Given the description of an element on the screen output the (x, y) to click on. 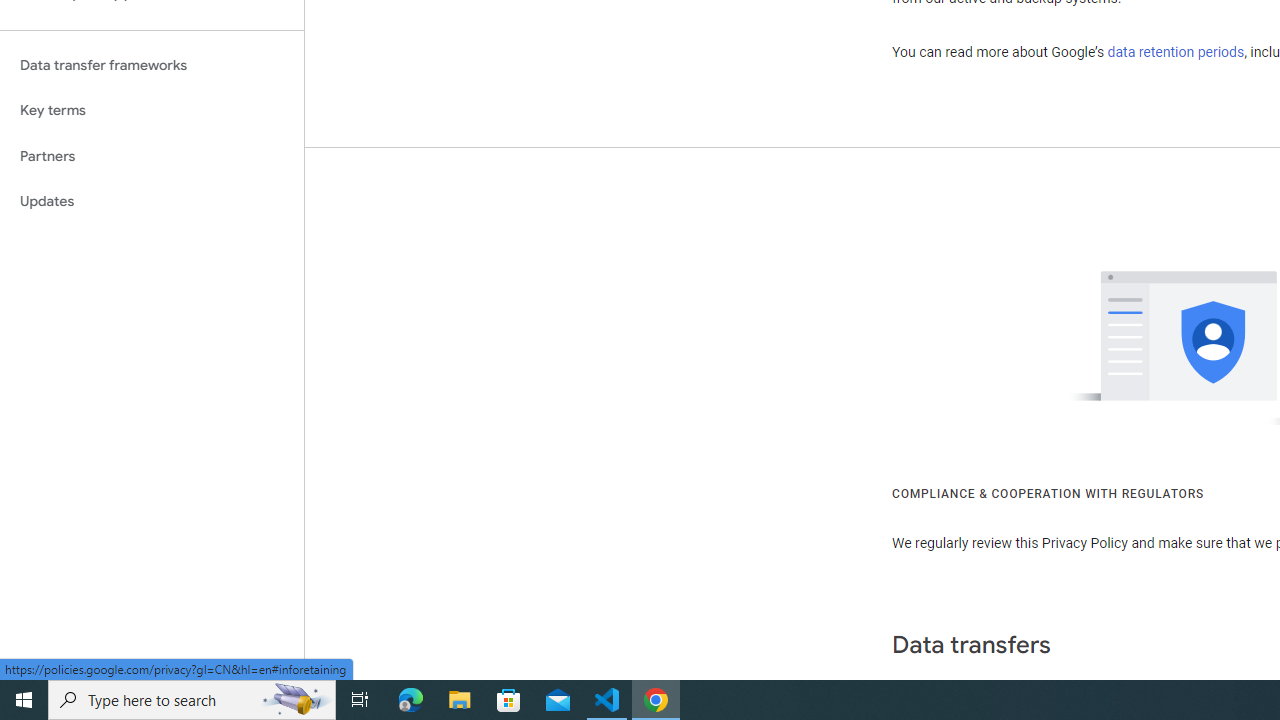
data retention periods (1176, 52)
Data transfer frameworks (152, 65)
Partners (152, 156)
Key terms (152, 110)
